Given the description of an element on the screen output the (x, y) to click on. 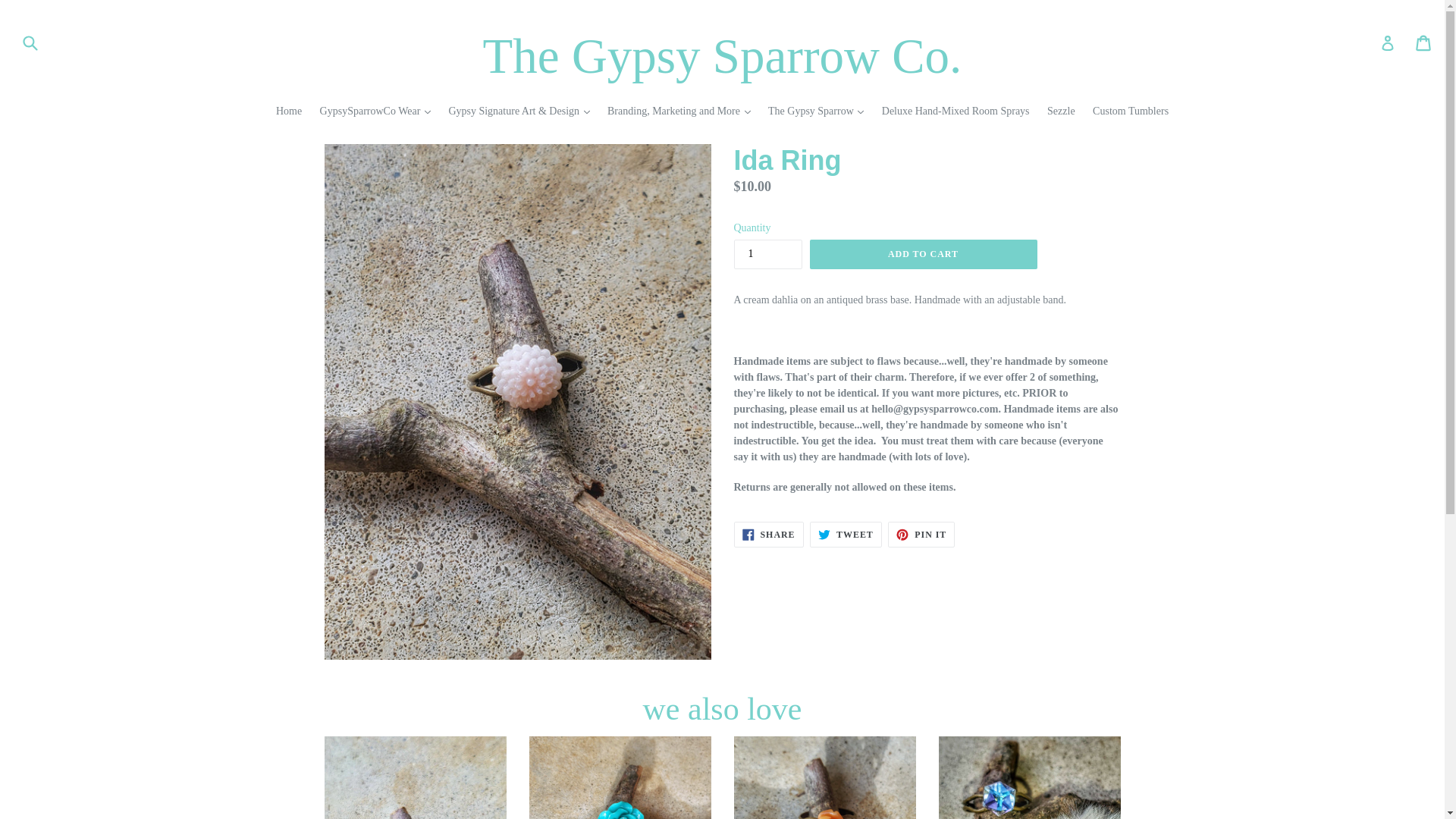
Tweet on Twitter (845, 534)
Share on Facebook (768, 534)
Pin on Pinterest (921, 534)
1 (767, 254)
